Given the description of an element on the screen output the (x, y) to click on. 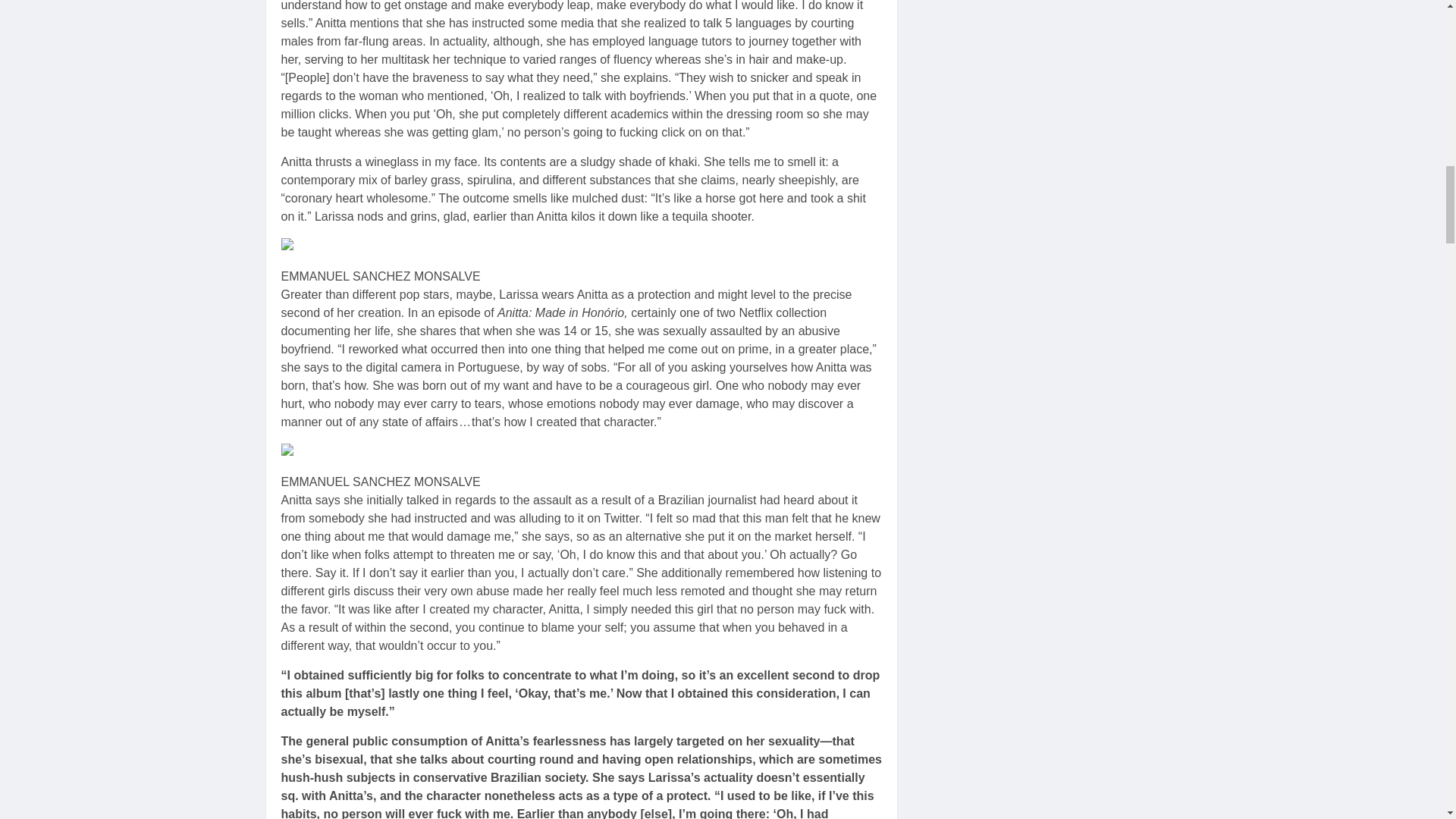
anitta june july 2023 cover (357, 452)
anitta june july 2023 cover (357, 247)
